Given the description of an element on the screen output the (x, y) to click on. 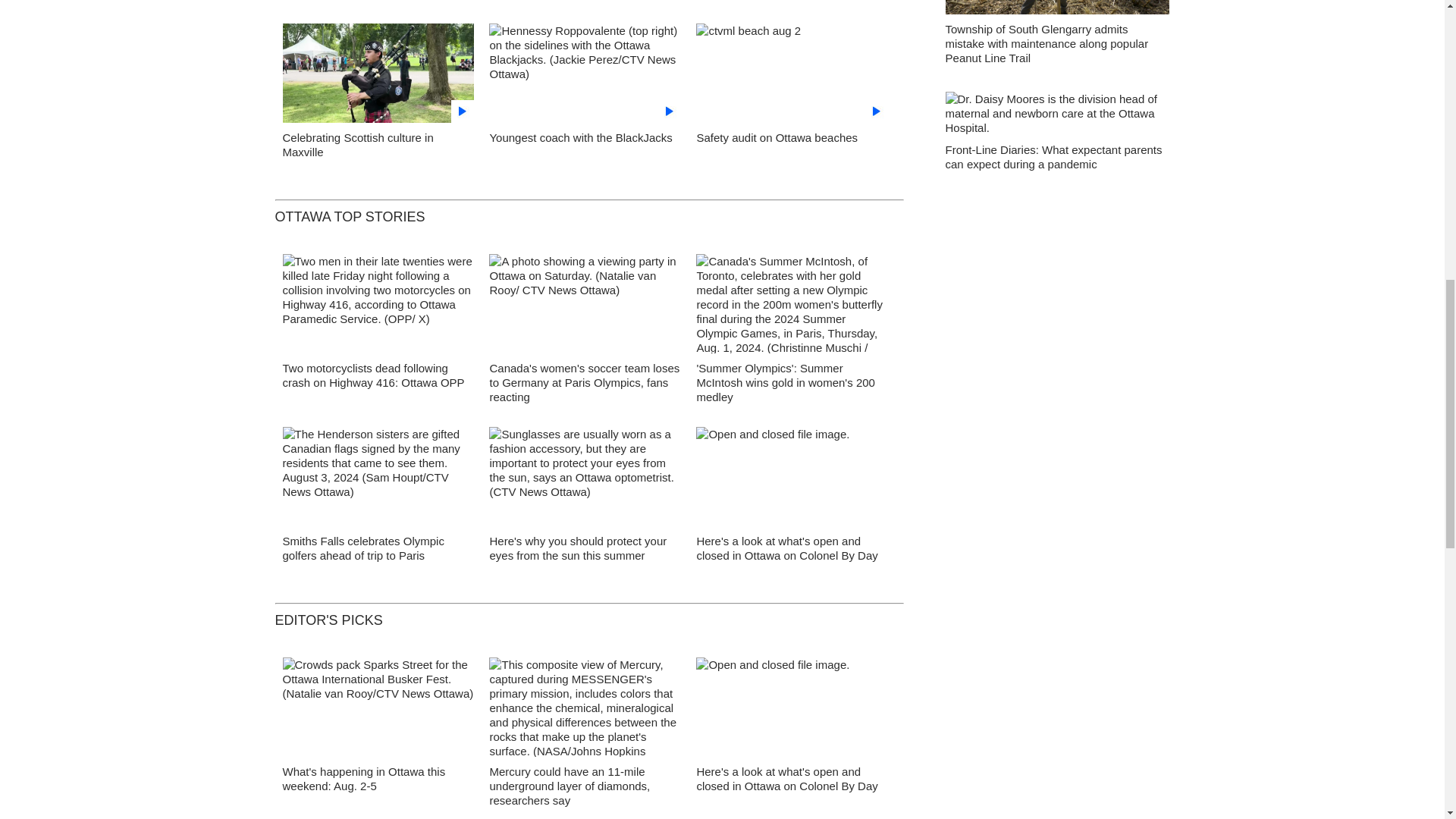
false (791, 72)
Celebrating Scottish culture in Maxville (357, 144)
Safety audit on Ottawa beaches (776, 137)
false (585, 72)
false (378, 72)
